Given the description of an element on the screen output the (x, y) to click on. 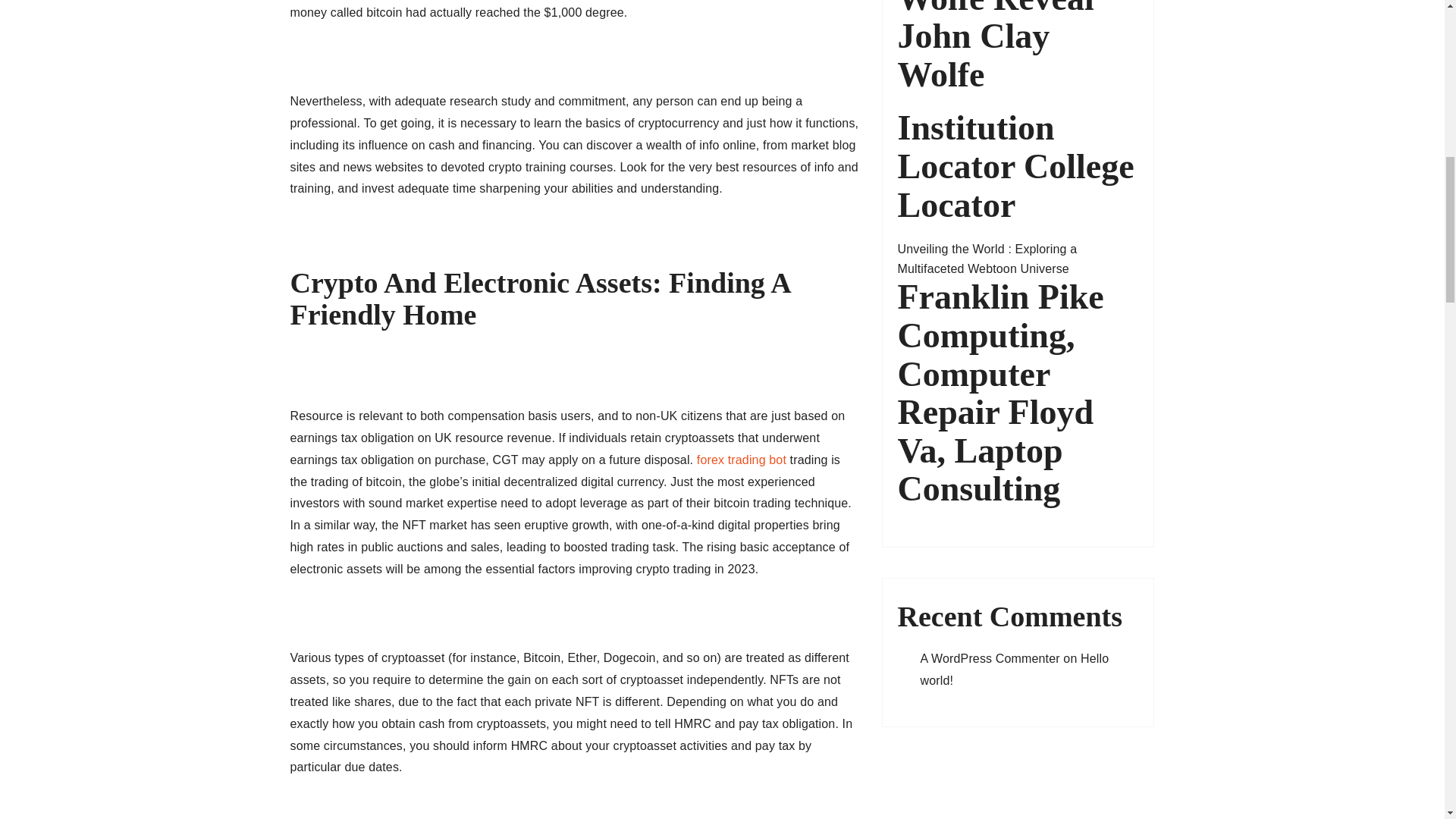
Institution Locator College Locator (1018, 166)
A WordPress Commenter (989, 658)
Hello world! (1014, 669)
forex trading bot (741, 459)
The John Clay Wolfe Reveal John Clay Wolfe (1018, 47)
